Given the description of an element on the screen output the (x, y) to click on. 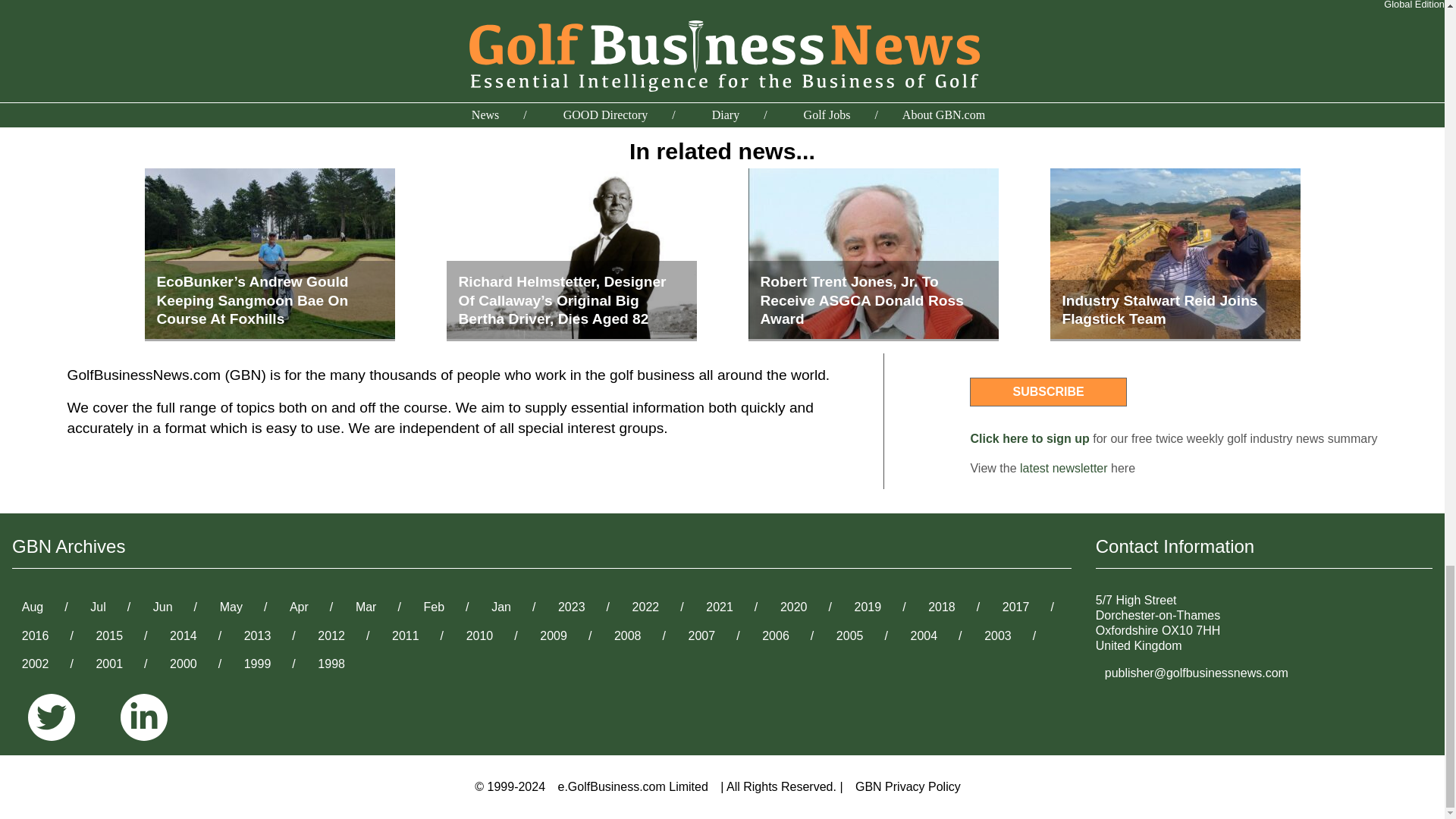
Jon Camp. (503, 89)
Jack Rushworth (408, 89)
David Kinsey (307, 89)
Sunice (698, 89)
Share on LinkedIn (998, 13)
Connect with us on LinkedIn (143, 718)
Robert Trent Jones, Jr. To Receive ASGCA Donald Ross Award (872, 254)
Kinsey Partnership (606, 89)
Follow us on Twitter (57, 718)
